Given the description of an element on the screen output the (x, y) to click on. 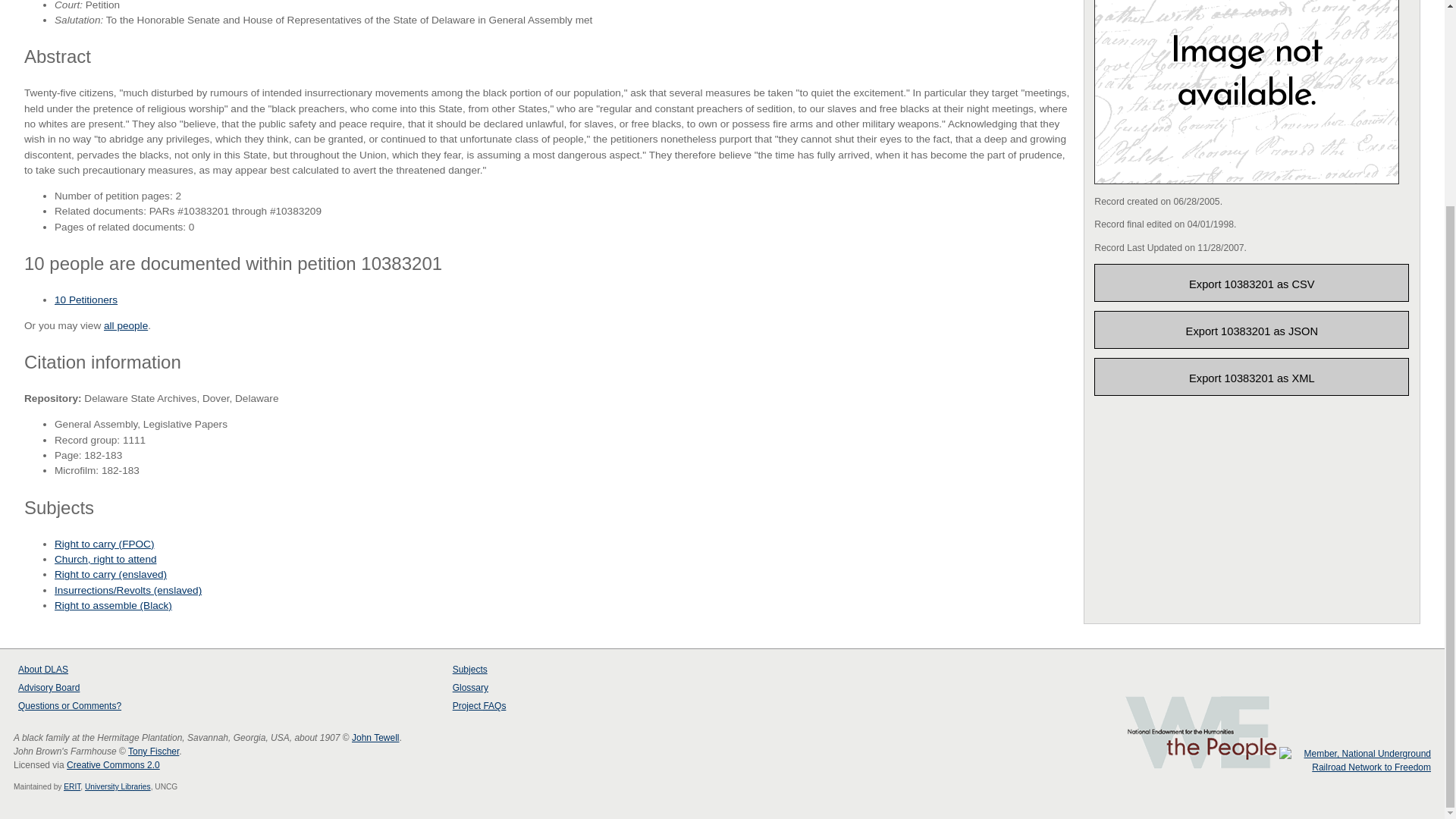
Creative Commons 2.0 (113, 765)
Export 10383201 as XML (1251, 376)
export record information as xml (1251, 376)
University Libraries (117, 786)
Advisory Board (48, 687)
About DLAS (42, 669)
ERIT (72, 786)
Tony Fischer (153, 751)
view all people in this record (125, 325)
Export 10383201 as CSV (1251, 282)
all people (125, 325)
export record information as csv (1251, 282)
Digital Library on American Slavery (56, 669)
Glossary (469, 687)
view 10 petitioners in this record (86, 299)
